Given the description of an element on the screen output the (x, y) to click on. 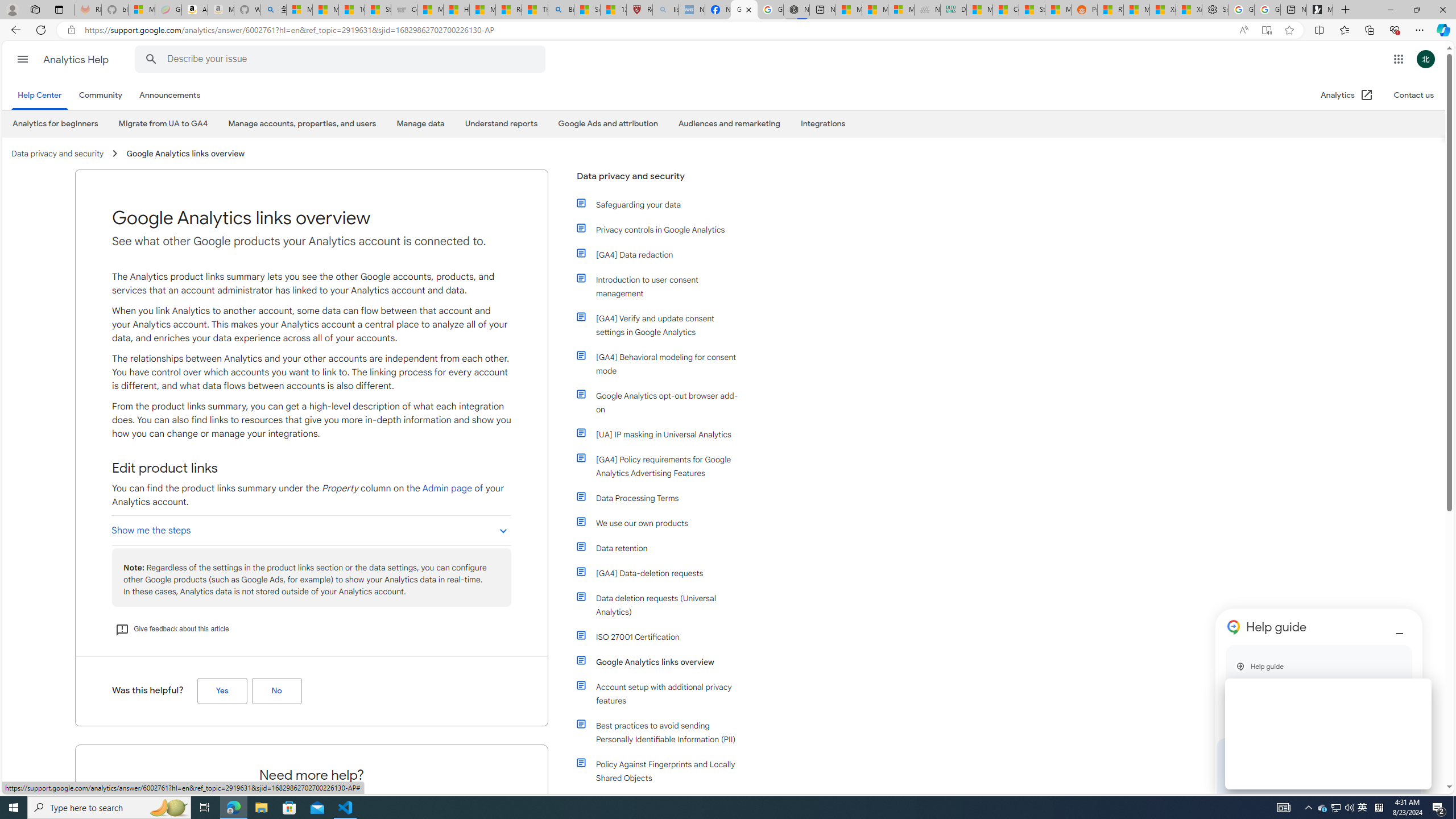
Describe your issue (340, 58)
Analytics Help (76, 59)
Google Ads and attribution (607, 123)
Microsoft Start Gaming (1319, 9)
Science - MSN (587, 9)
